Given the description of an element on the screen output the (x, y) to click on. 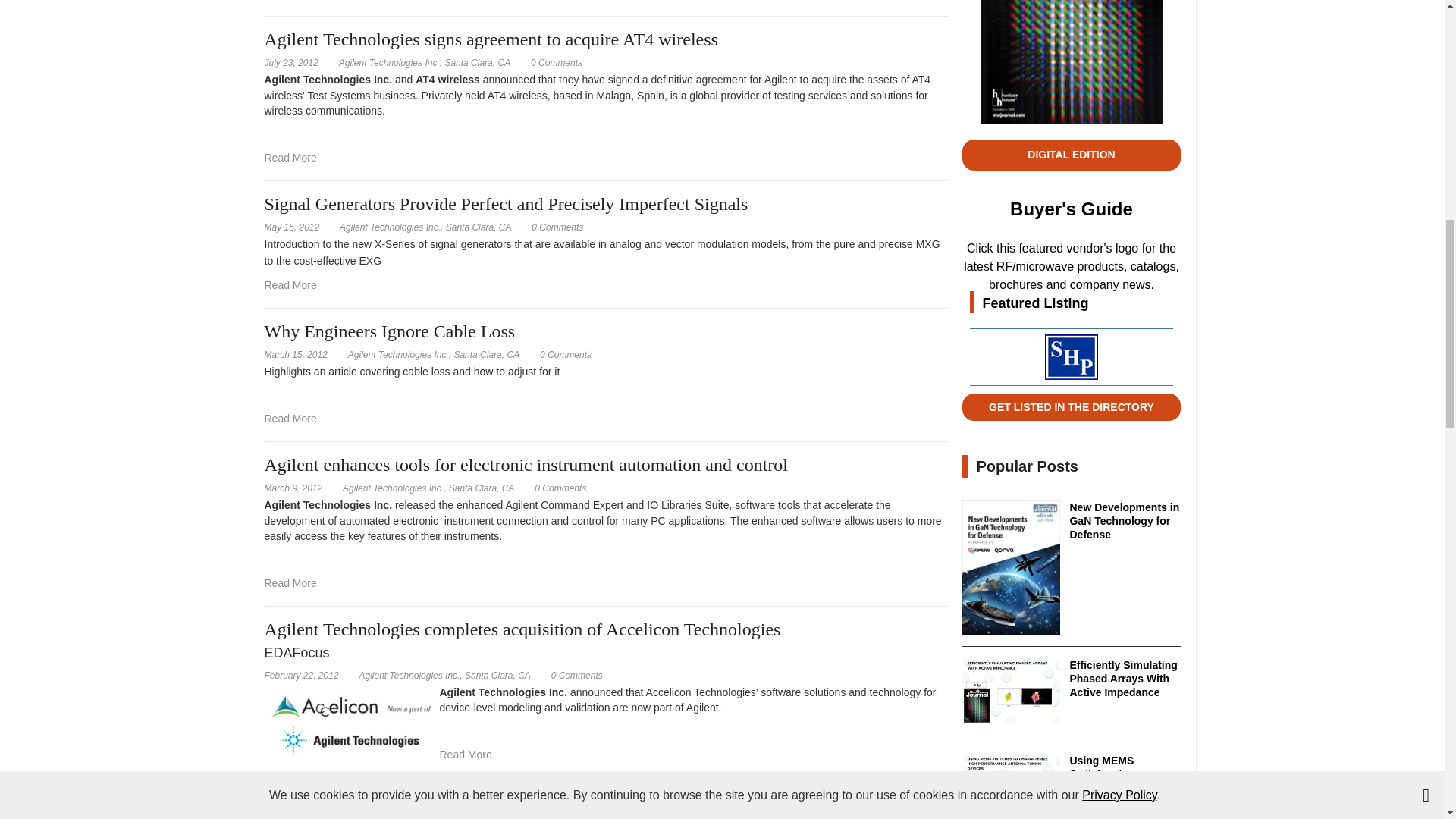
Agilent Technologies signs agreement to acquire AT4 wireless (556, 62)
Why Engineers Ignore Cable Loss (565, 354)
Agilent Technologies signs agreement to acquire AT4 wireless (289, 157)
Why Engineers Ignore Cable Loss (289, 418)
Carrying Microwave Precision Into the Field (289, 0)
